Given the description of an element on the screen output the (x, y) to click on. 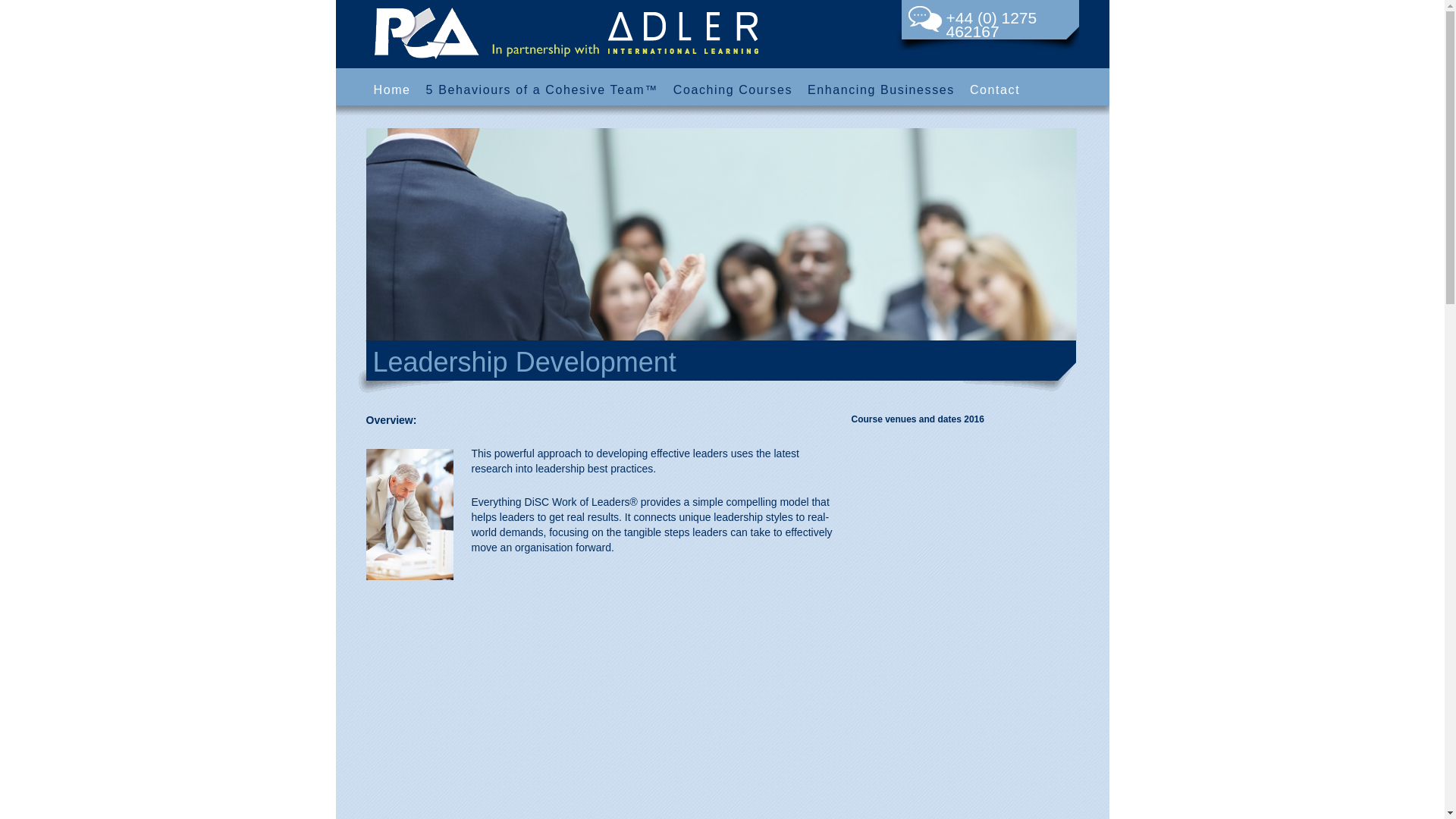
Contact (994, 92)
Home (391, 92)
Coaching Courses (732, 92)
Enhancing Businesses (881, 92)
